Given the description of an element on the screen output the (x, y) to click on. 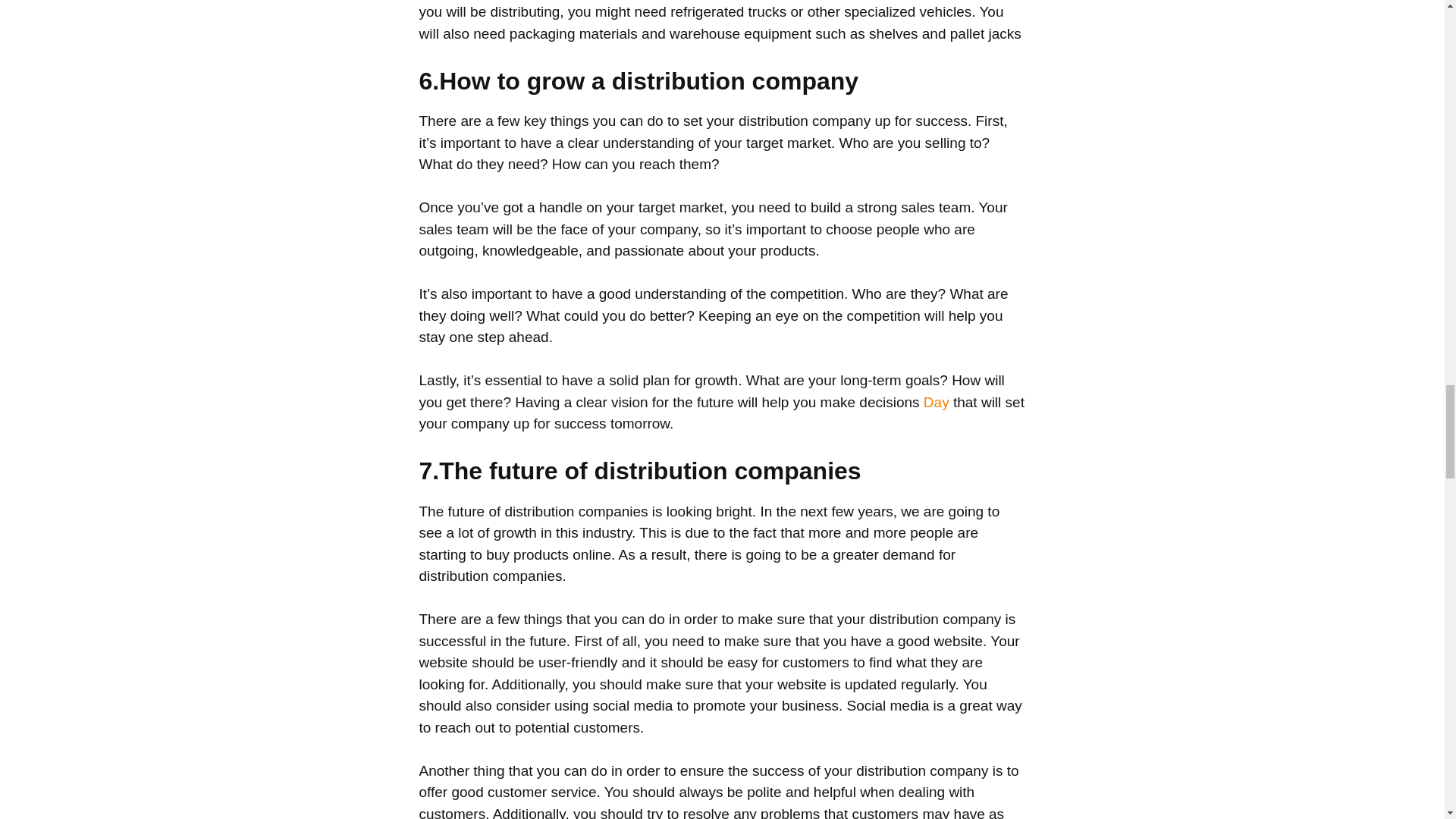
Day (936, 401)
